Given the description of an element on the screen output the (x, y) to click on. 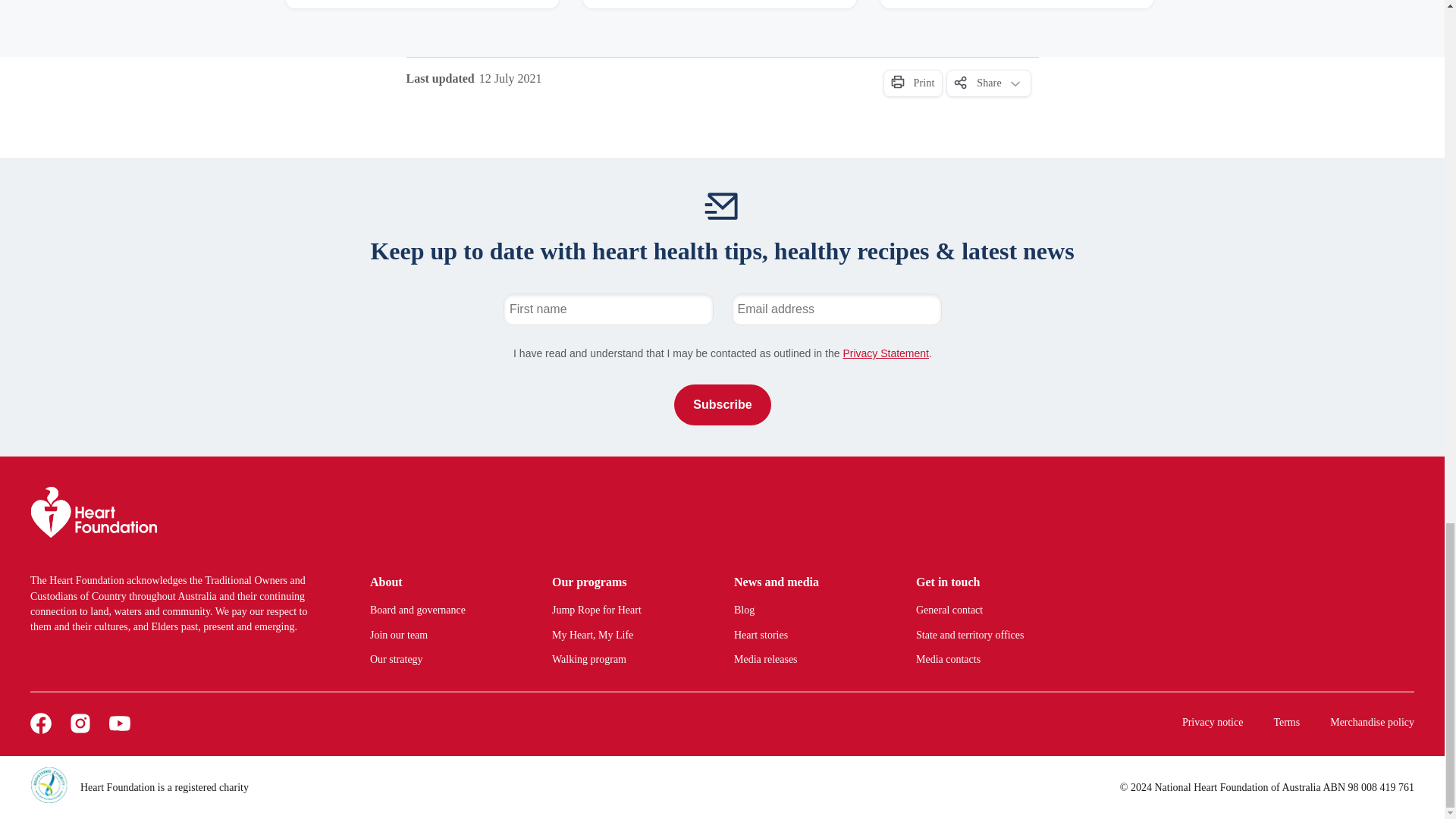
Print (912, 83)
Newsletter Signup (722, 358)
Join our team (442, 635)
Our strategy (442, 659)
About (442, 581)
Board and governance (442, 610)
Share (988, 83)
